Given the description of an element on the screen output the (x, y) to click on. 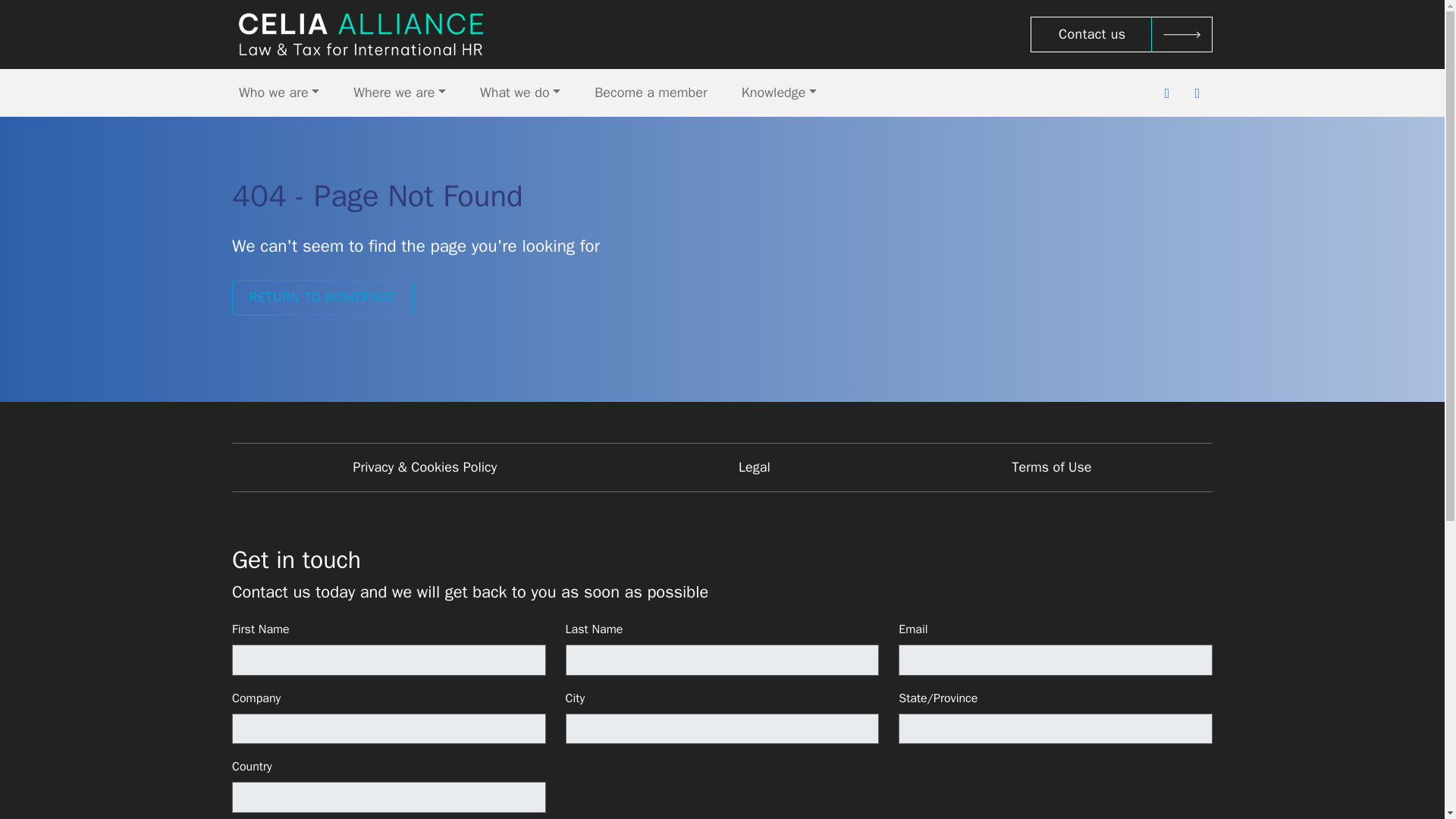
Legal (754, 467)
Contact us (1121, 34)
RETURN TO HOMEPAGE (322, 297)
Who we are (278, 92)
Who we are (278, 92)
What we do (520, 92)
Where we are (399, 92)
Where we are (399, 92)
What we do (520, 92)
Become a member (650, 92)
Knowledge (779, 92)
